Given the description of an element on the screen output the (x, y) to click on. 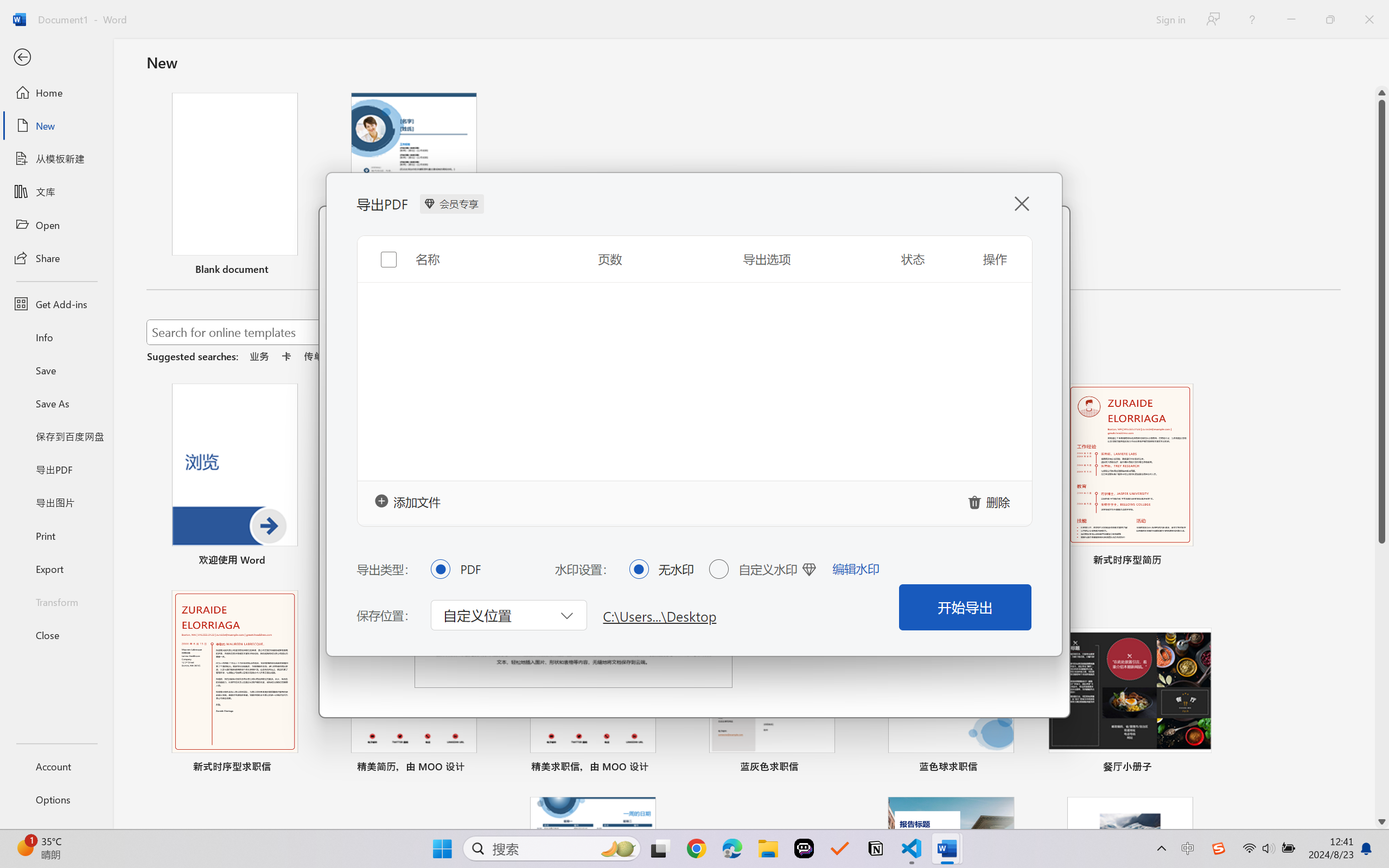
Export (56, 568)
Info (56, 337)
Save As (56, 403)
